Given the description of an element on the screen output the (x, y) to click on. 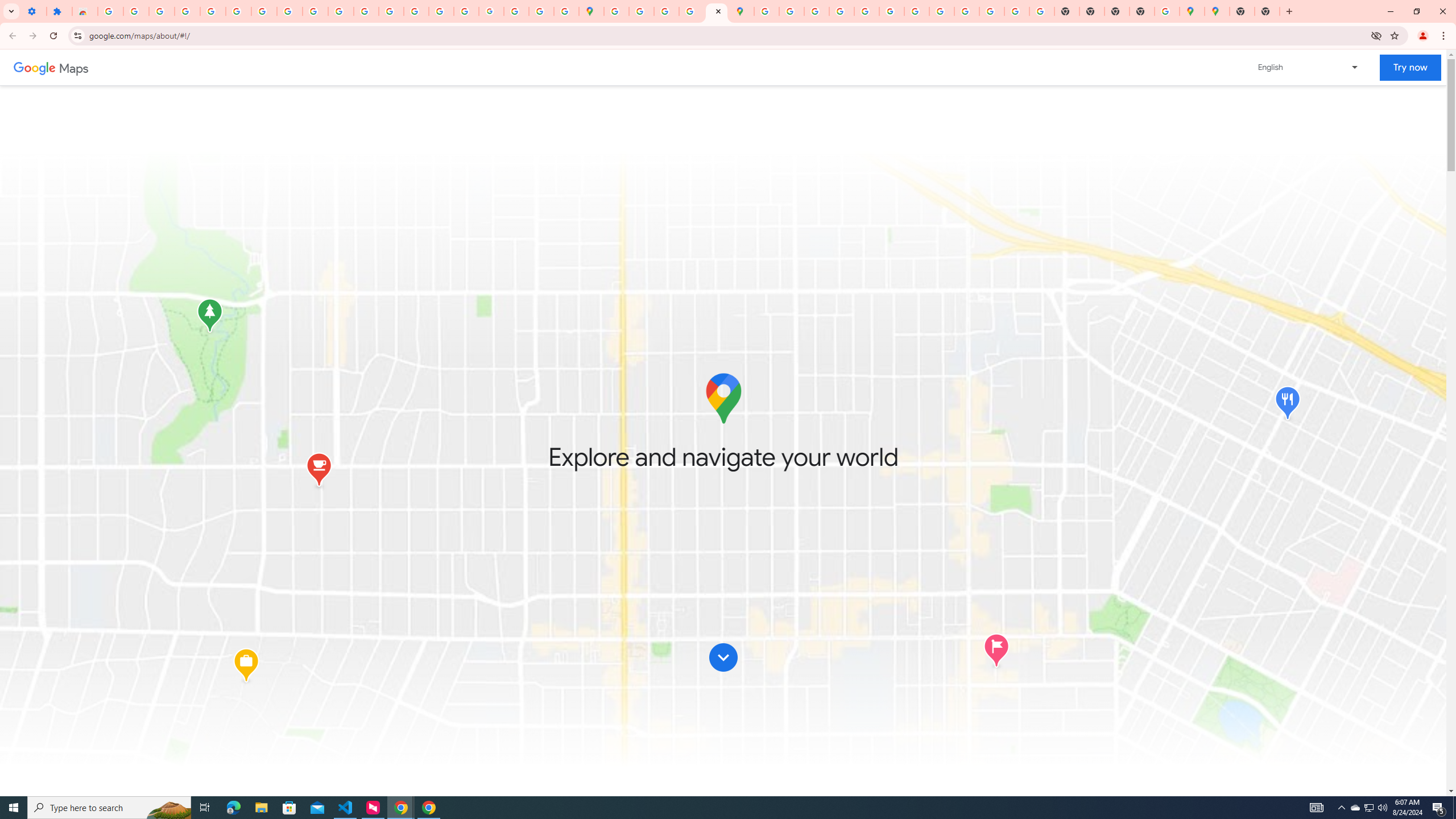
YouTube (289, 11)
Reviews: Helix Fruit Jump Arcade Game (84, 11)
Learn how to find your photos - Google Photos Help (161, 11)
Settings - On startup (34, 11)
YouTube (916, 11)
Google Maps (1216, 11)
